Given the description of an element on the screen output the (x, y) to click on. 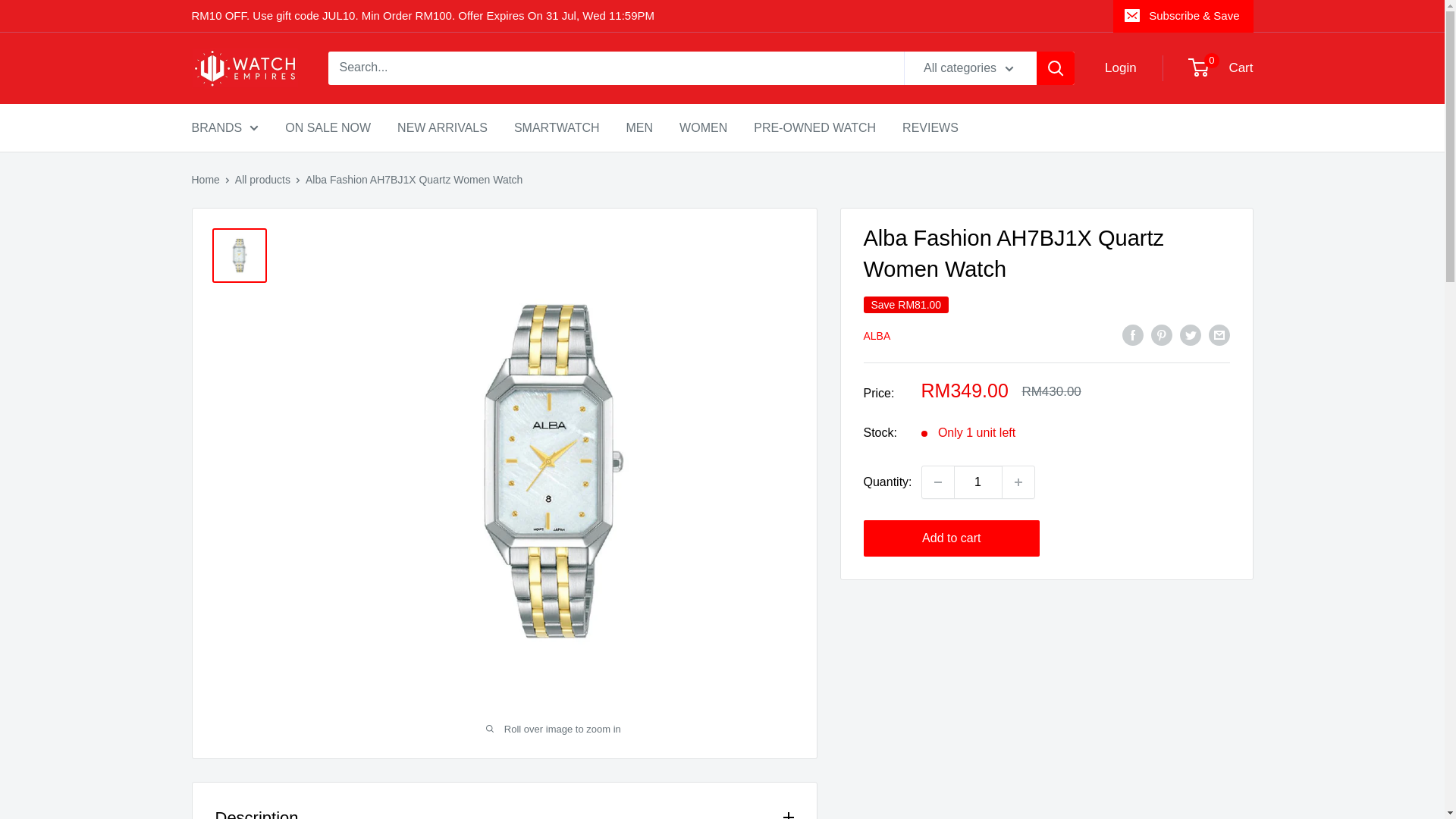
Decrease quantity by 1 (937, 481)
Increase quantity by 1 (1018, 481)
1 (978, 481)
